Given the description of an element on the screen output the (x, y) to click on. 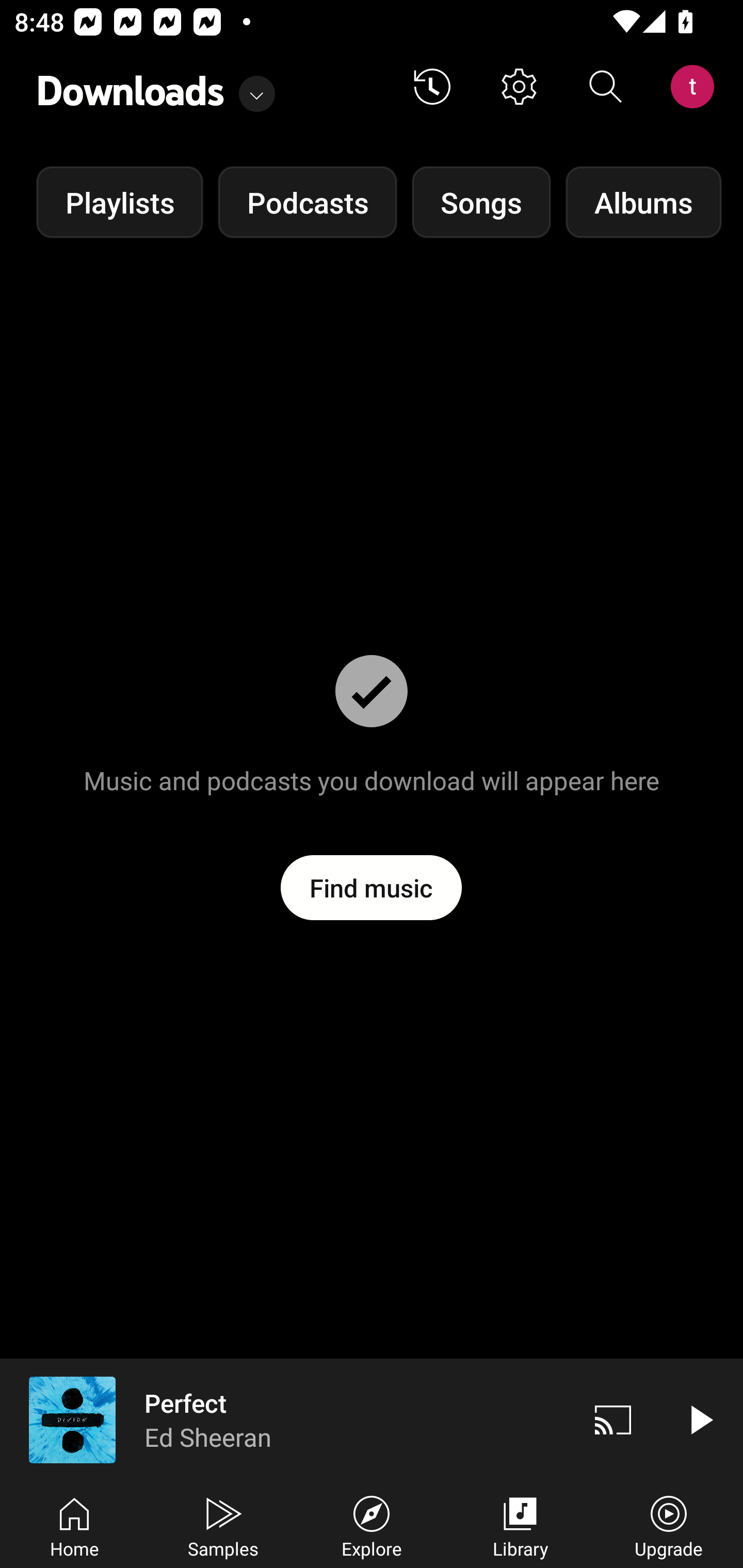
Show downloads selected Downloads (155, 86)
History (432, 86)
Downloads settings (518, 86)
Search (605, 86)
Account (696, 86)
Find music (371, 887)
Perfect Ed Sheeran (284, 1419)
Cast. Disconnected (612, 1419)
Play video (699, 1419)
Home (74, 1524)
Samples (222, 1524)
Explore (371, 1524)
Upgrade (668, 1524)
